Given the description of an element on the screen output the (x, y) to click on. 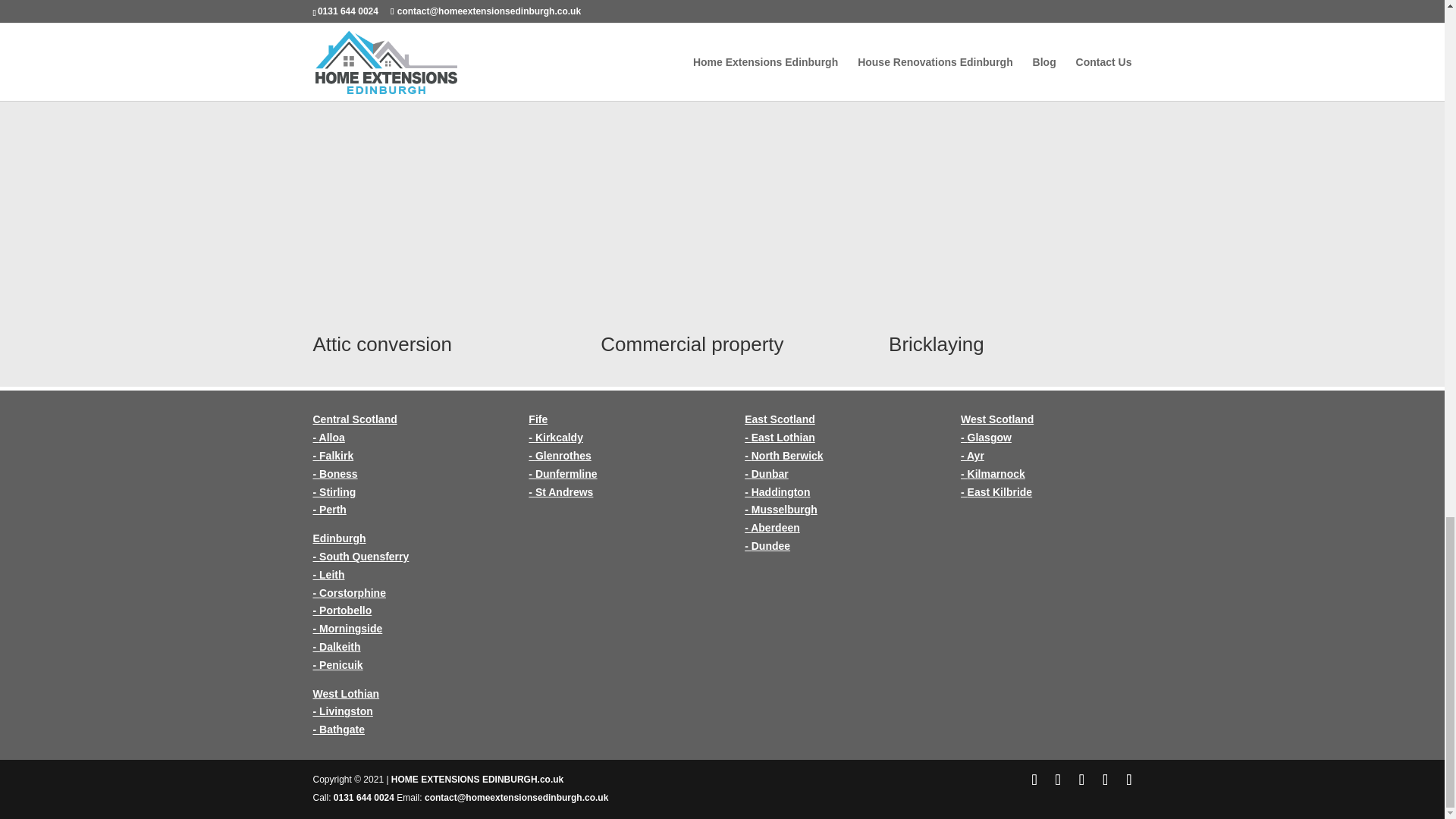
Boness (338, 473)
Alloa (331, 437)
Falkirk (335, 455)
Morningside (349, 628)
Livingston (345, 711)
Stirling (336, 491)
West Lothian (345, 693)
Penicuik (340, 664)
South Quensferry (363, 556)
Portobello (344, 610)
